Given the description of an element on the screen output the (x, y) to click on. 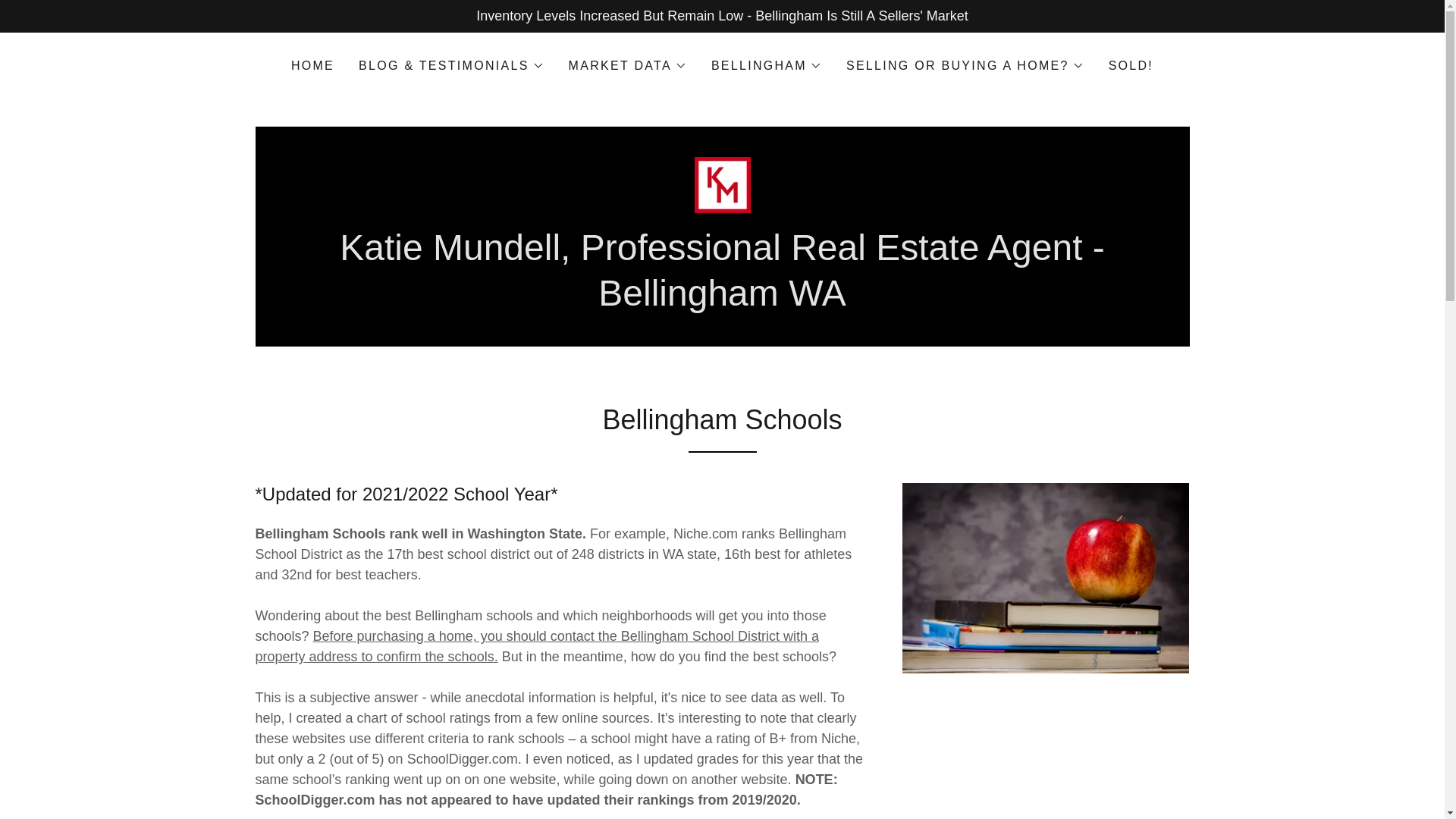
HOME (312, 65)
MARKET DATA (628, 65)
SOLD! (1130, 65)
Katie Mundell (722, 183)
SELLING OR BUYING A HOME? (964, 65)
BELLINGHAM (766, 65)
